Given the description of an element on the screen output the (x, y) to click on. 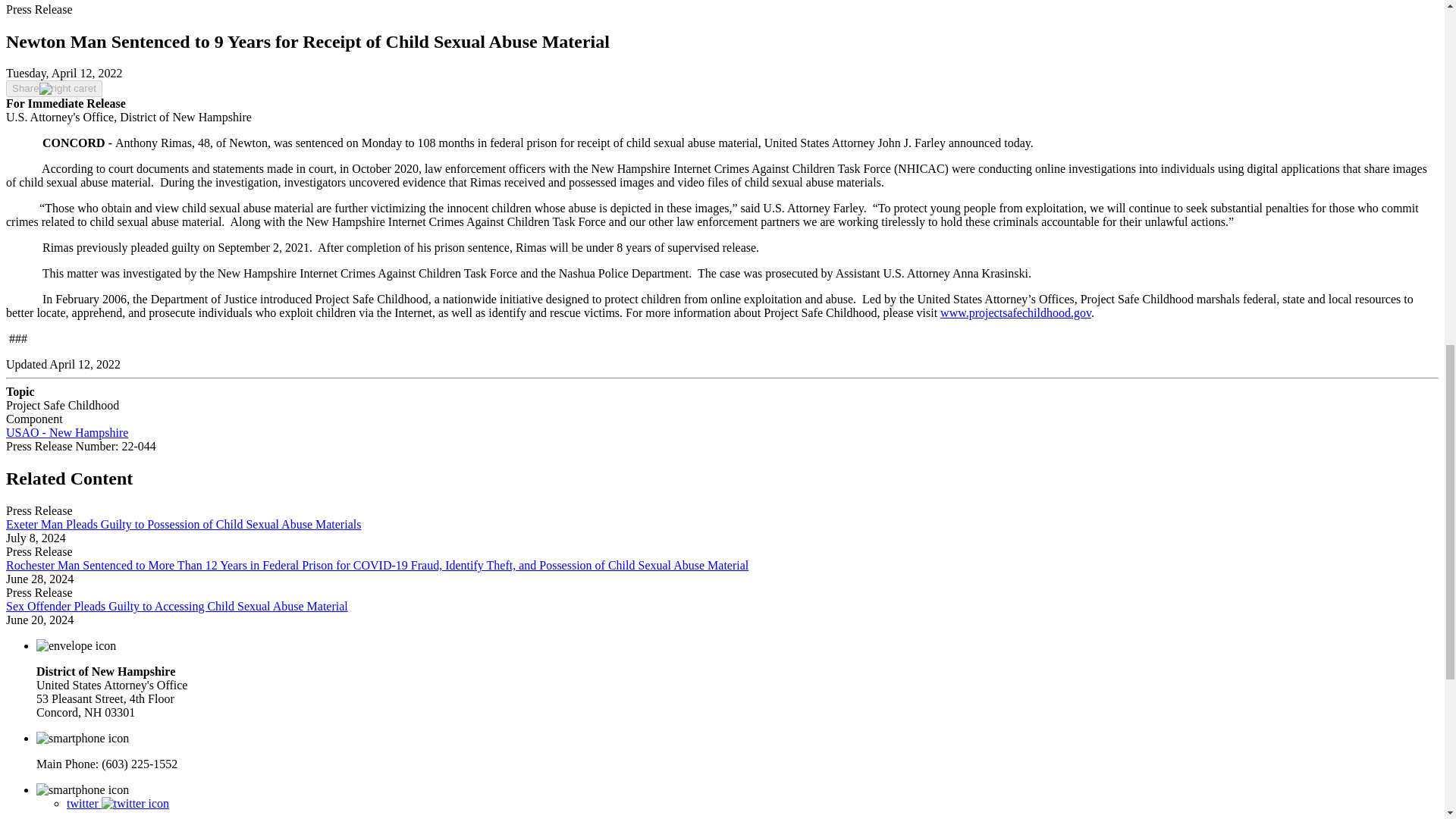
Share (53, 88)
USAO - New Hampshire (66, 431)
www.projectsafechildhood.gov (1015, 312)
